Given the description of an element on the screen output the (x, y) to click on. 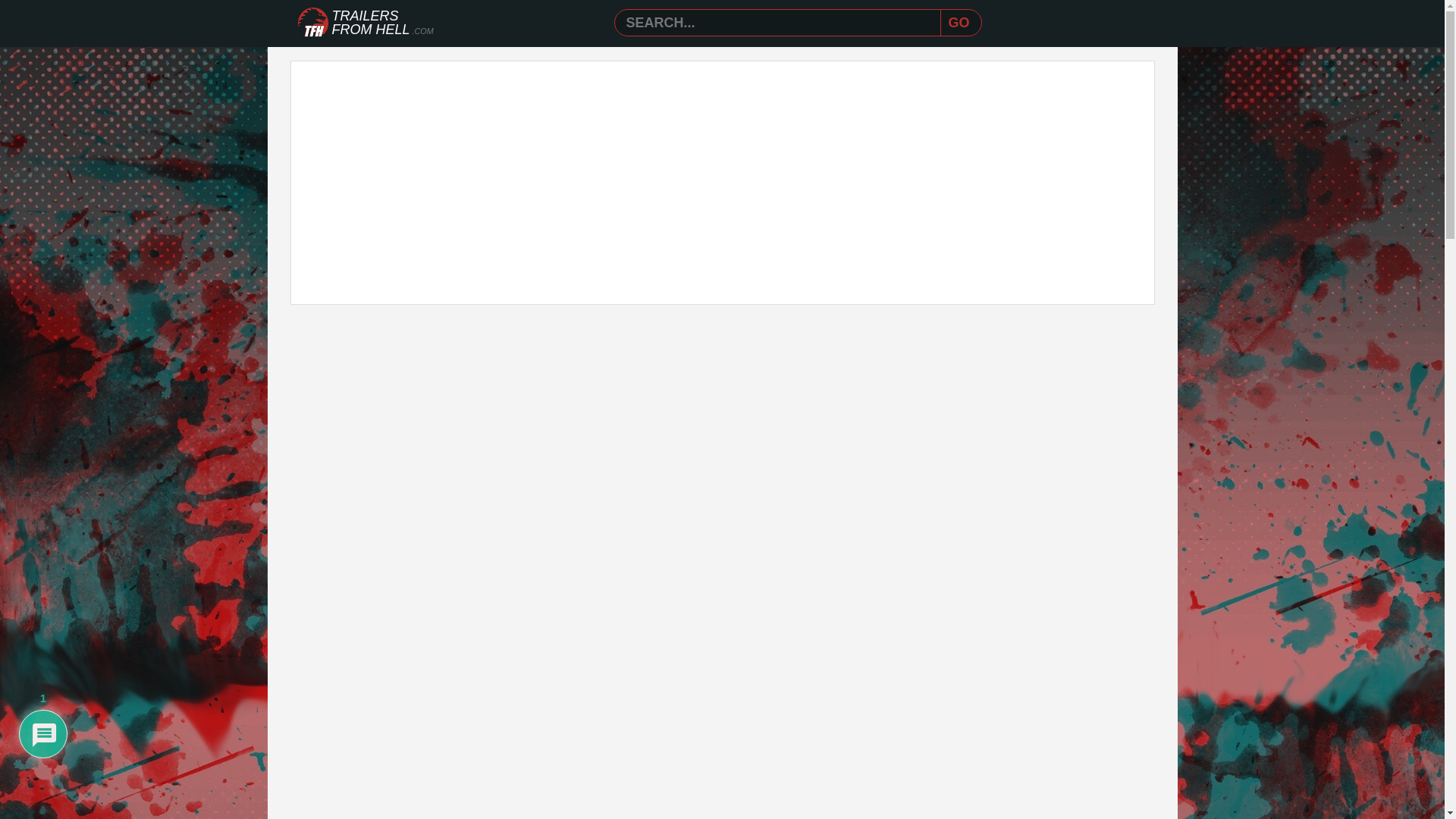
GO (959, 22)
Search for: (781, 22)
Trailers From Hell (312, 22)
GO (959, 22)
